Given the description of an element on the screen output the (x, y) to click on. 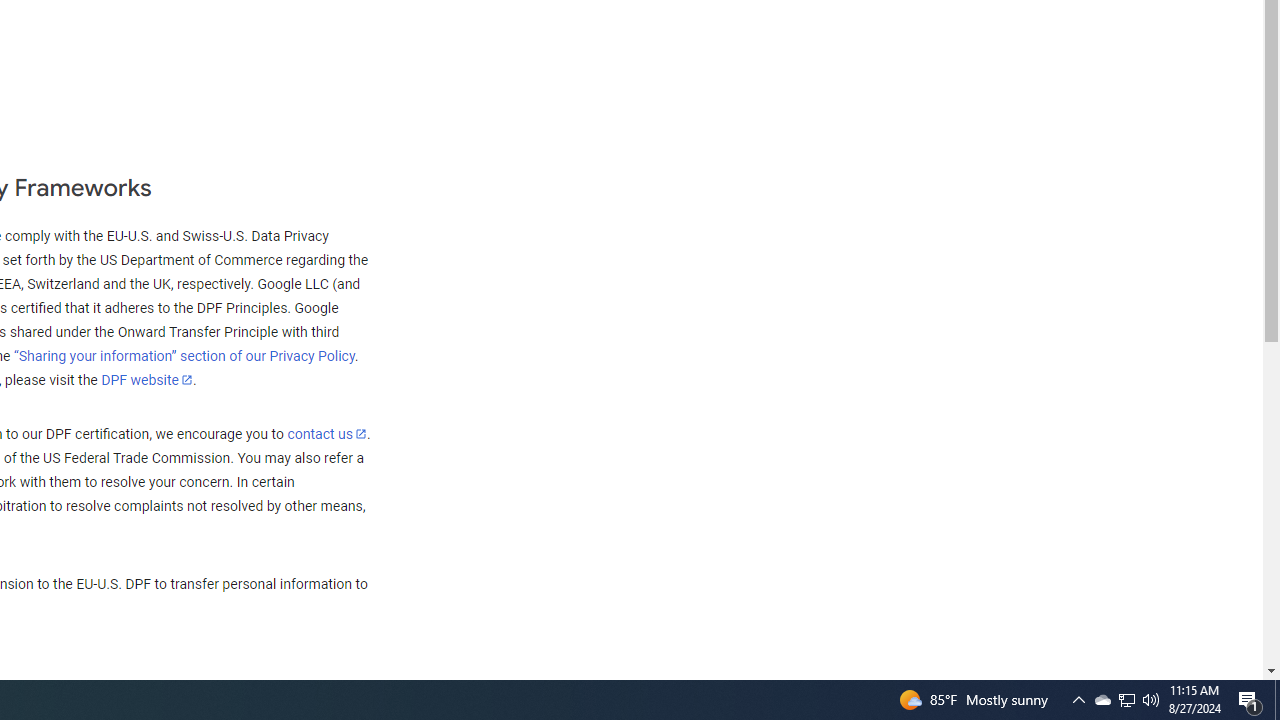
DPF website (147, 379)
contact us (326, 433)
